Given the description of an element on the screen output the (x, y) to click on. 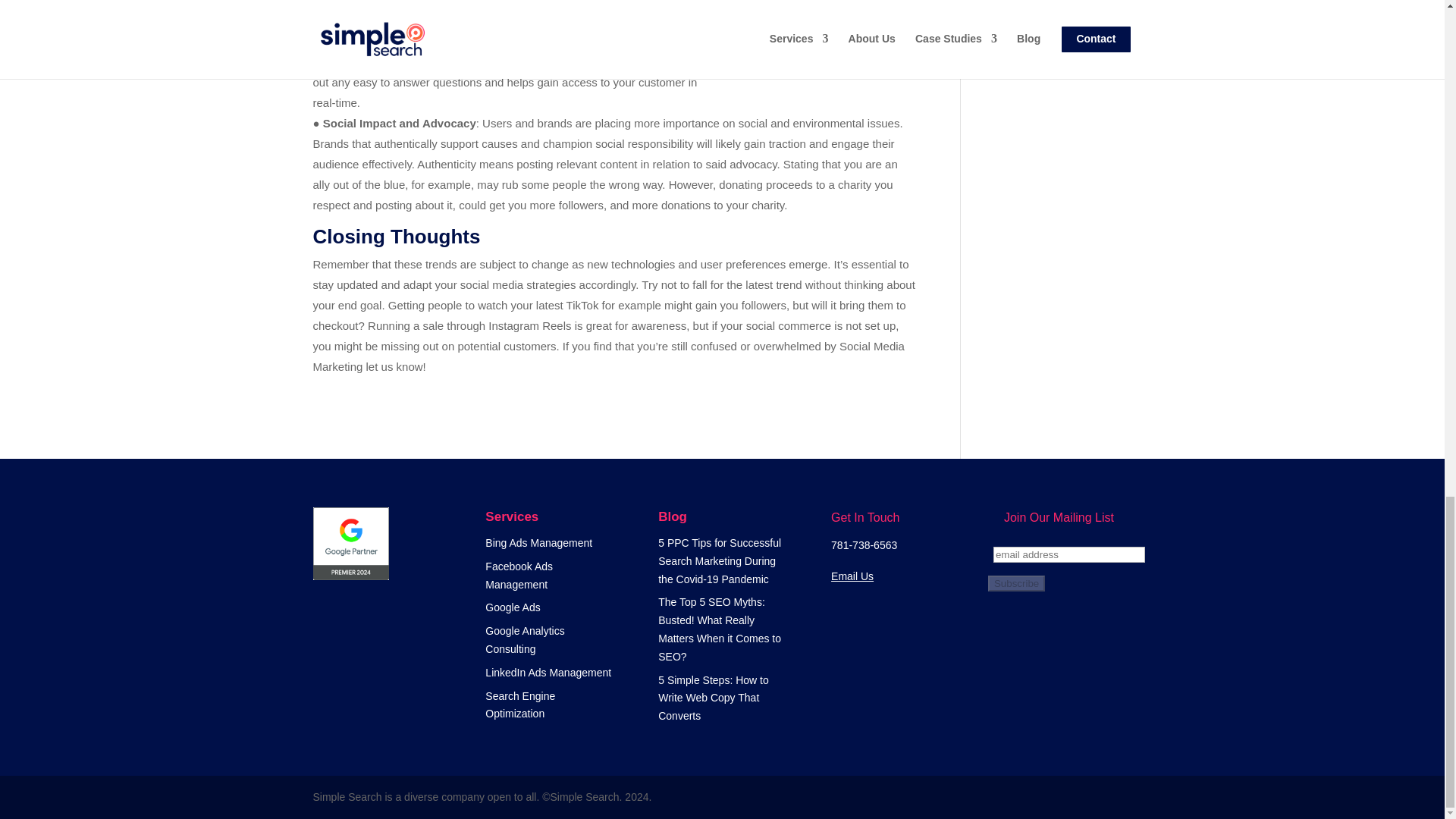
Facebook Ads Management (518, 575)
Bing Ads Management (538, 542)
Subscribe (1016, 583)
